Given the description of an element on the screen output the (x, y) to click on. 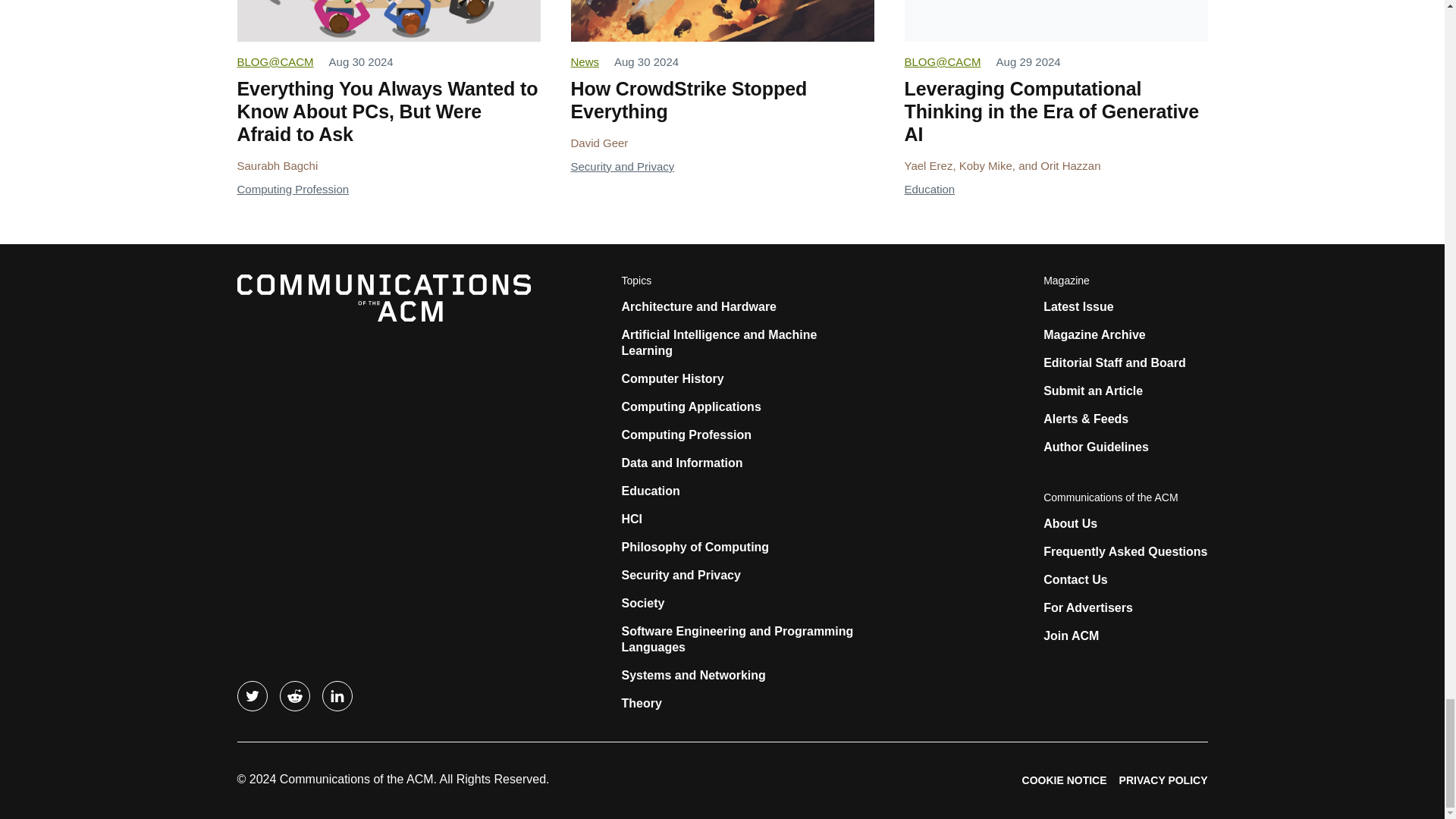
Posts by Koby Mike (985, 164)
Posts by Yael Erez (928, 164)
Posts by David Geer (598, 142)
Posts by Saurabh Bagchi (276, 164)
Posts by Orit Hazzan (1070, 164)
